Given the description of an element on the screen output the (x, y) to click on. 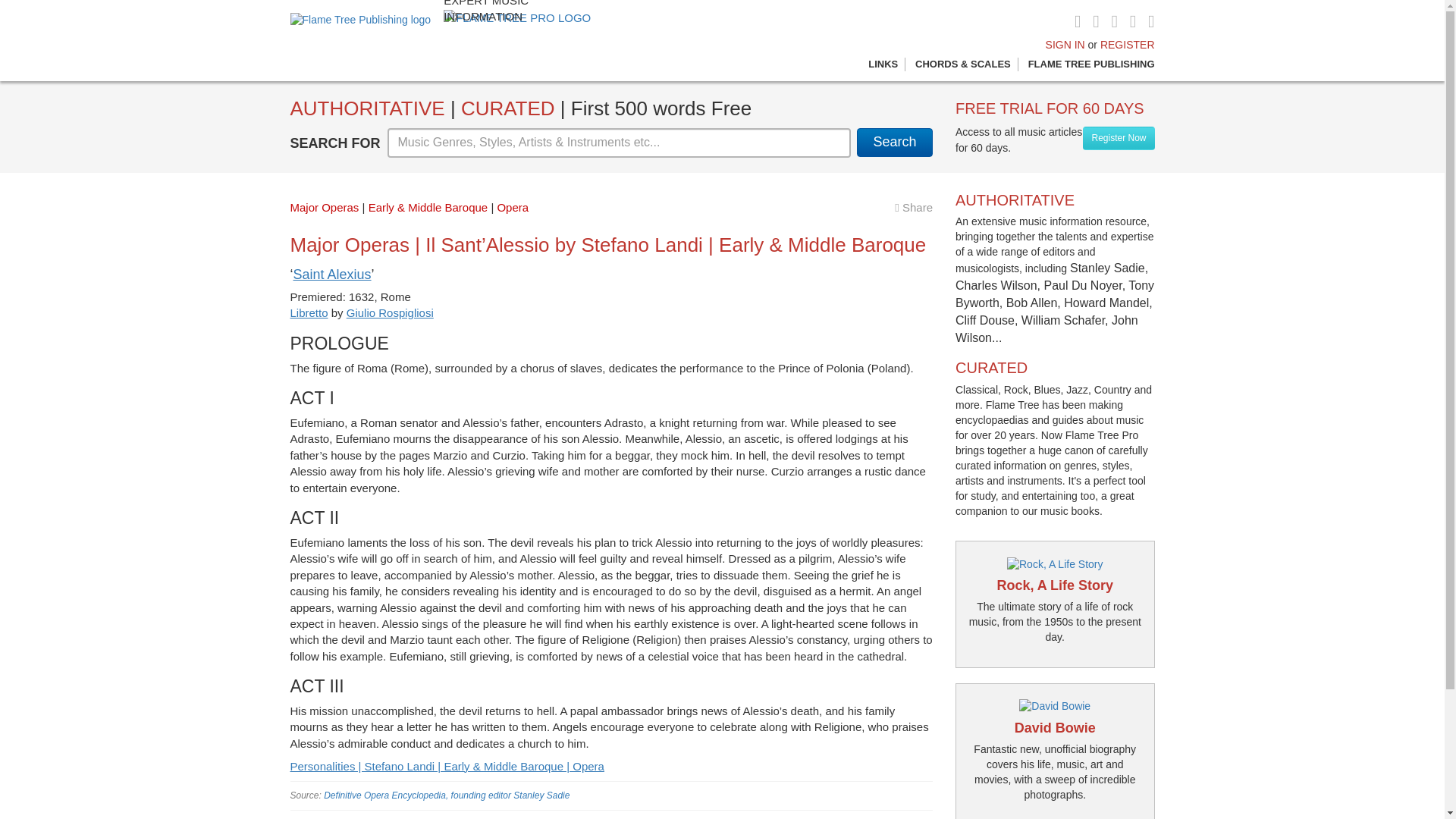
David Bowie (1055, 727)
Libretto (308, 312)
Search (895, 142)
REGISTER (1127, 44)
FLAME TREE PUBLISHING (1090, 63)
Major Operas (323, 206)
Share (914, 206)
LINKS (882, 63)
Saint Alexius (331, 273)
Giulio Rospigliosi (389, 312)
